Given the description of an element on the screen output the (x, y) to click on. 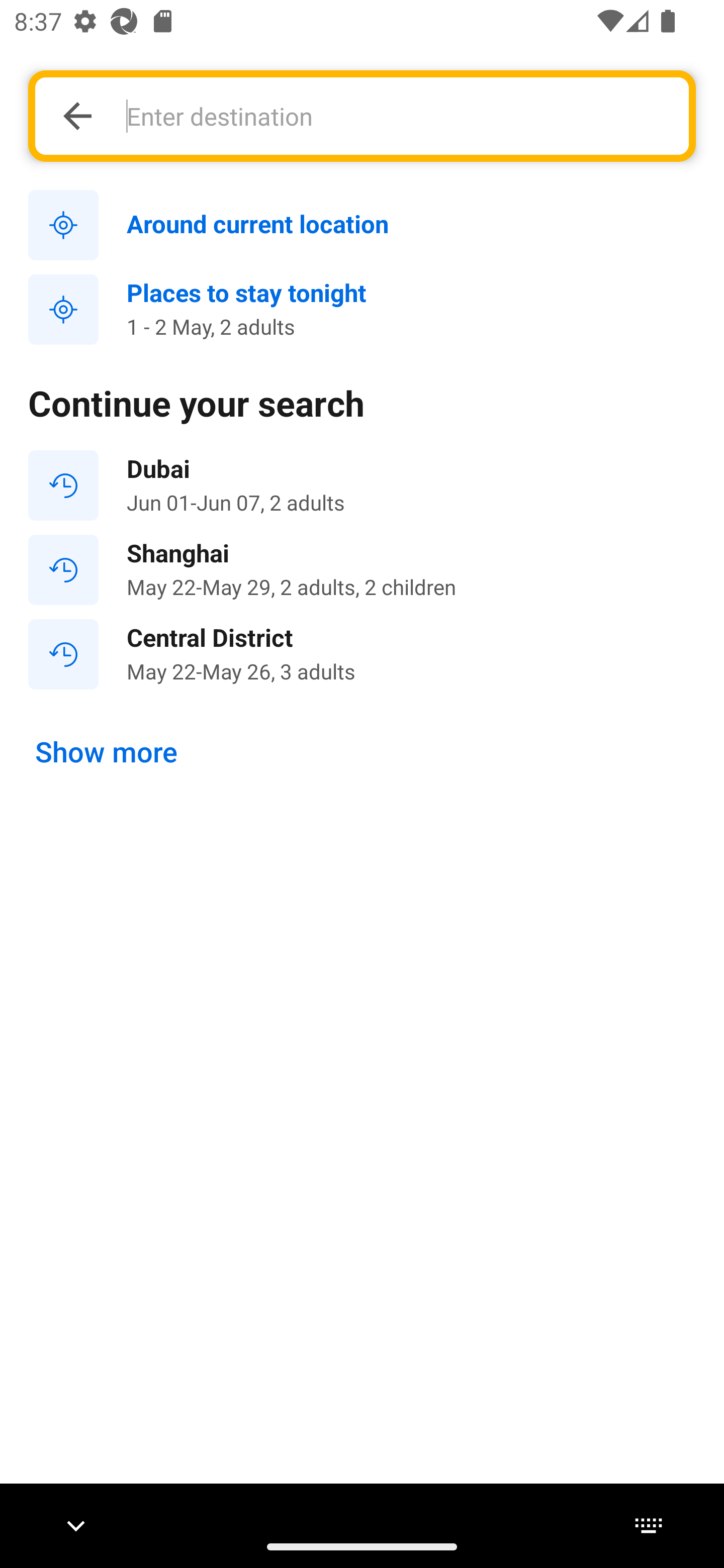
Enter destination (396, 115)
Around current location (362, 225)
Places to stay tonight 1 - 2 May, 2 adults (362, 309)
Dubai Jun 01-Jun 07, 2 adults  (362, 485)
Shanghai May 22-May 29, 2 adults, 2 children (362, 569)
Central District May 22-May 26, 3 adults  (362, 653)
Show more (106, 752)
